Given the description of an element on the screen output the (x, y) to click on. 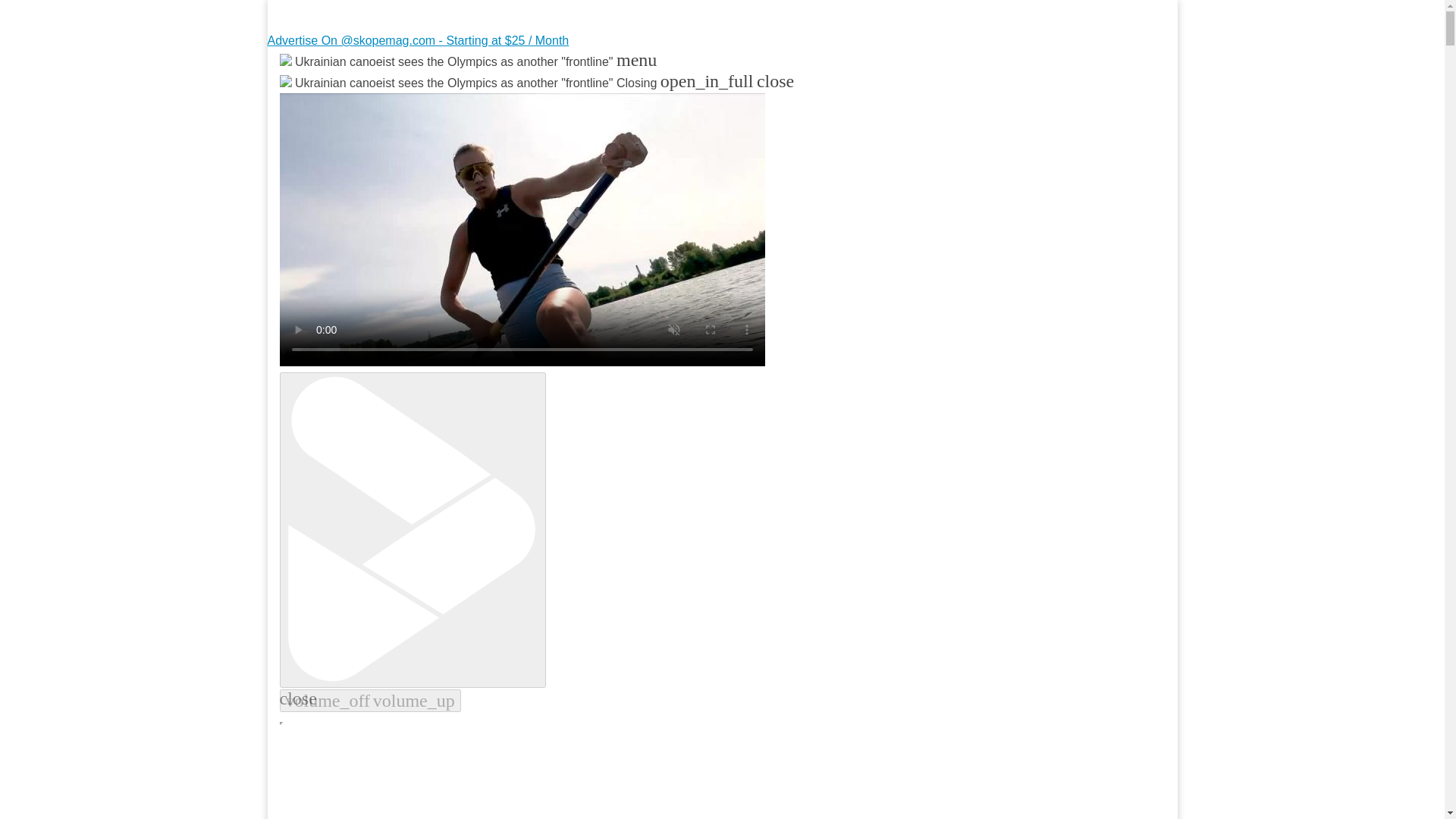
Skope Entertainment Inc (462, 98)
Skope Entertainment Inc (462, 98)
